Given the description of an element on the screen output the (x, y) to click on. 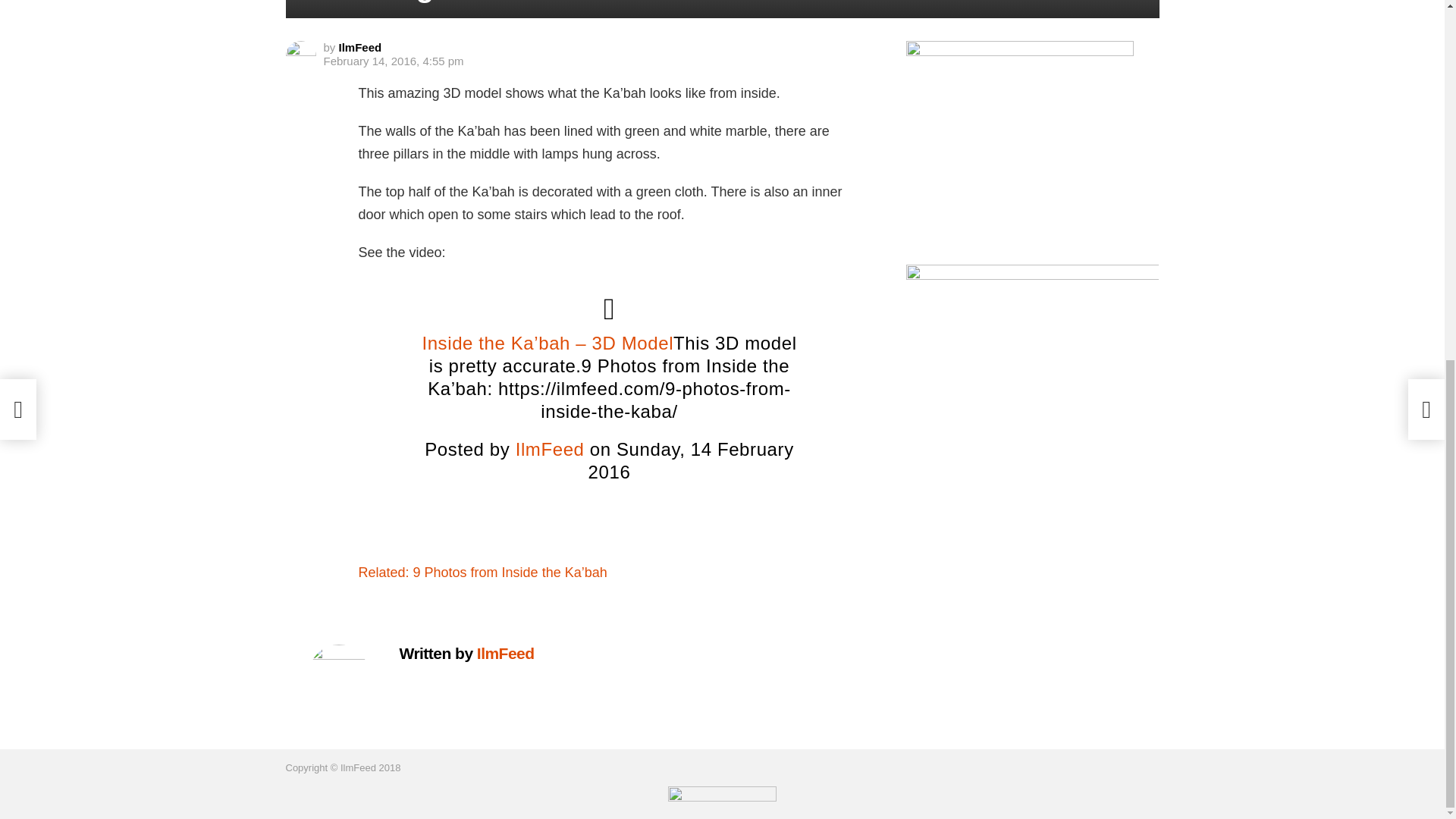
Posts by IlmFeed (360, 47)
